Given the description of an element on the screen output the (x, y) to click on. 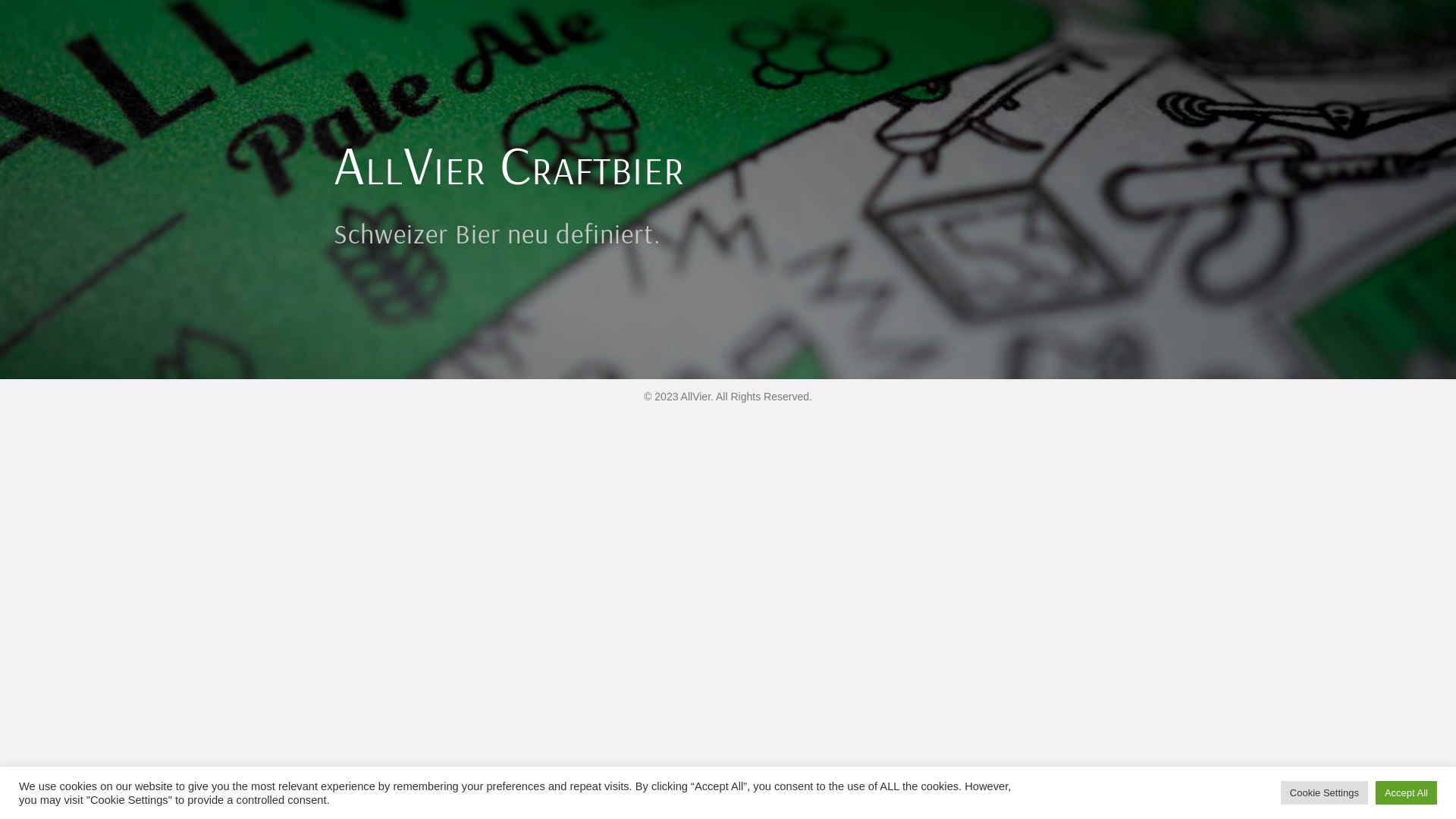
Accept All Element type: text (1406, 792)
Cookie Settings Element type: text (1324, 792)
